Given the description of an element on the screen output the (x, y) to click on. 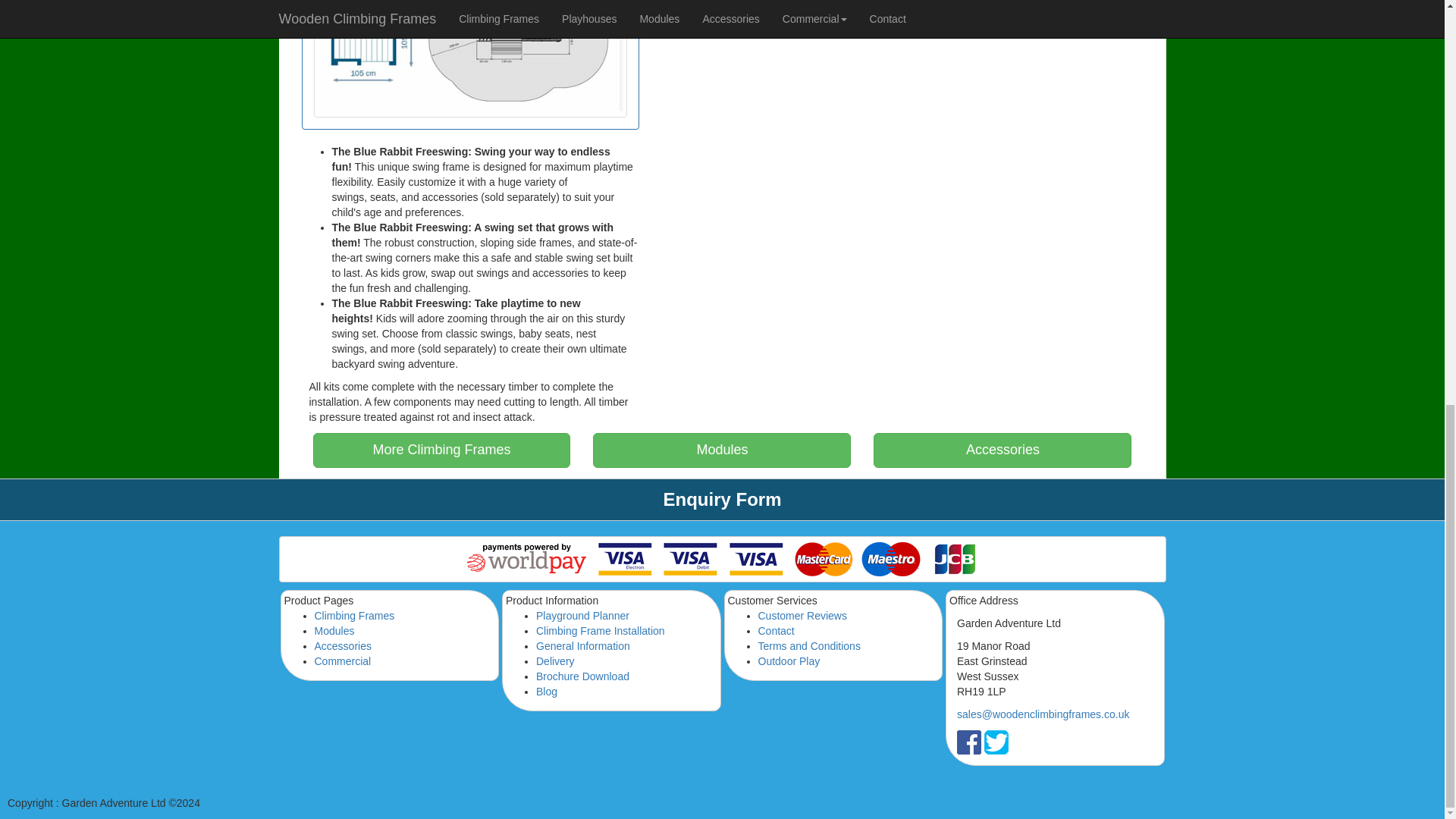
General Information (582, 645)
Customer Reviews (802, 615)
Delivery (555, 661)
Accessories (342, 645)
Climbing Frames (354, 615)
Blog (546, 691)
Modules (333, 630)
Enquiry Form (721, 498)
Outdoor Play (789, 661)
Brochure Download (581, 676)
